Given the description of an element on the screen output the (x, y) to click on. 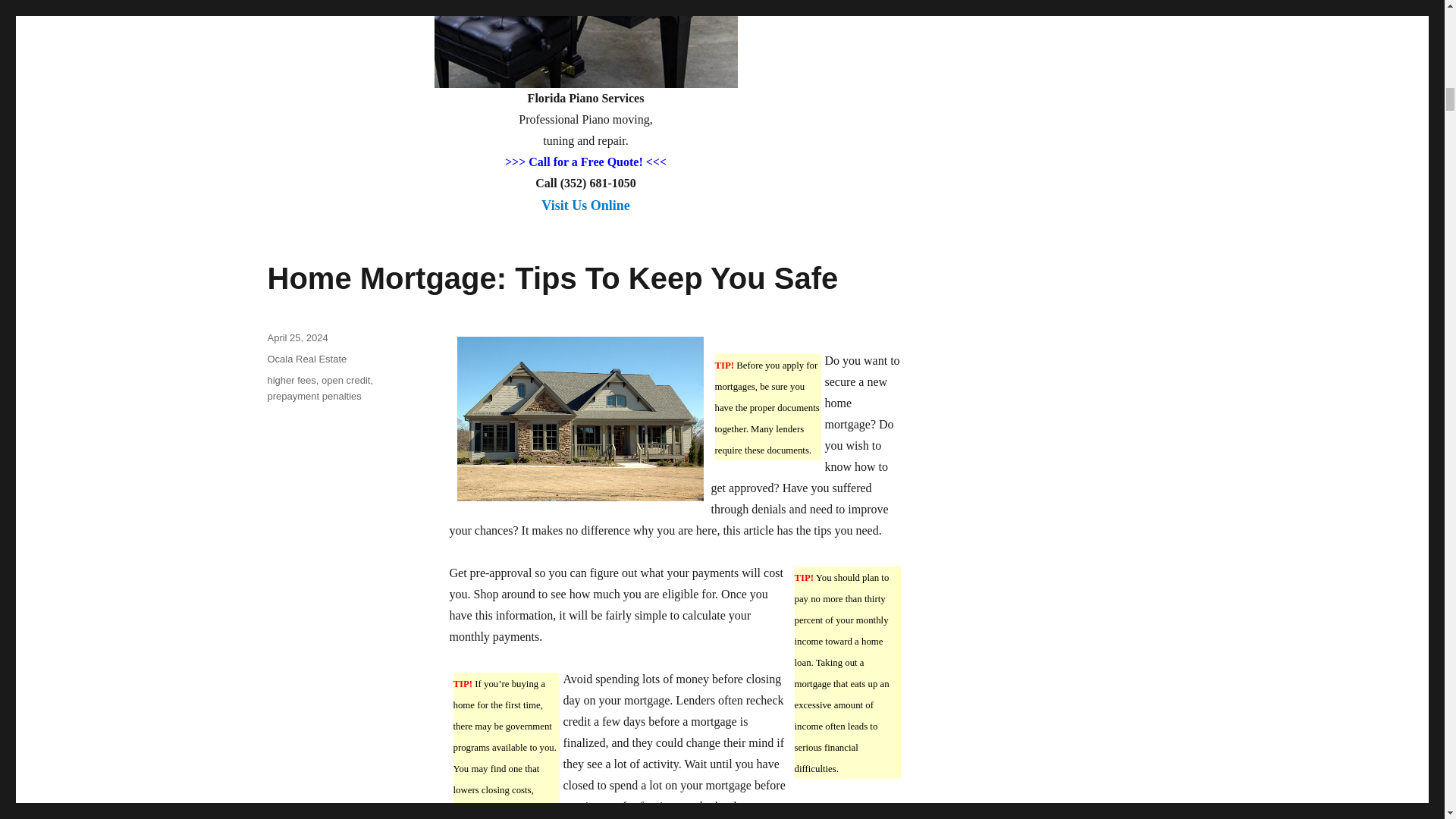
Home Mortgage: Tips To Keep You Safe (552, 277)
higher fees (290, 379)
open credit (345, 379)
Ocala Real Estate (306, 358)
prepayment penalties (313, 396)
Visit Us Online (585, 214)
April 25, 2024 (296, 337)
